Given the description of an element on the screen output the (x, y) to click on. 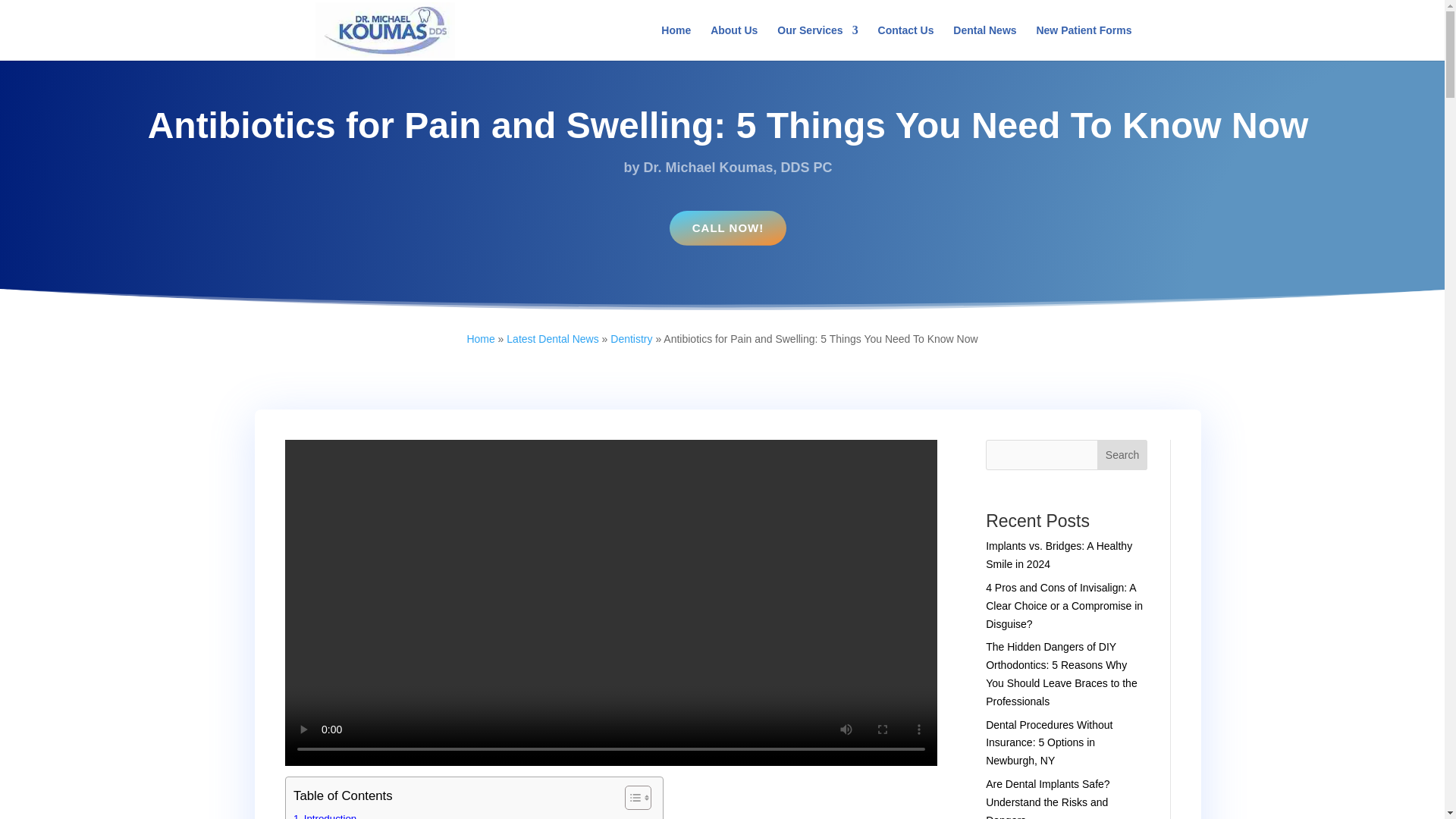
Introduction (325, 814)
About Us (733, 42)
Dentistry (631, 338)
Latest Dental News (552, 338)
Posts by Dr. Michael Koumas, DDS PC (737, 167)
Home (480, 338)
New Patient Forms (1083, 42)
Dr. Michael Koumas, DDS PC (737, 167)
Dental News (984, 42)
Contact Us (905, 42)
Introduction (325, 814)
CALL NOW! (728, 227)
Our Services (817, 42)
